Given the description of an element on the screen output the (x, y) to click on. 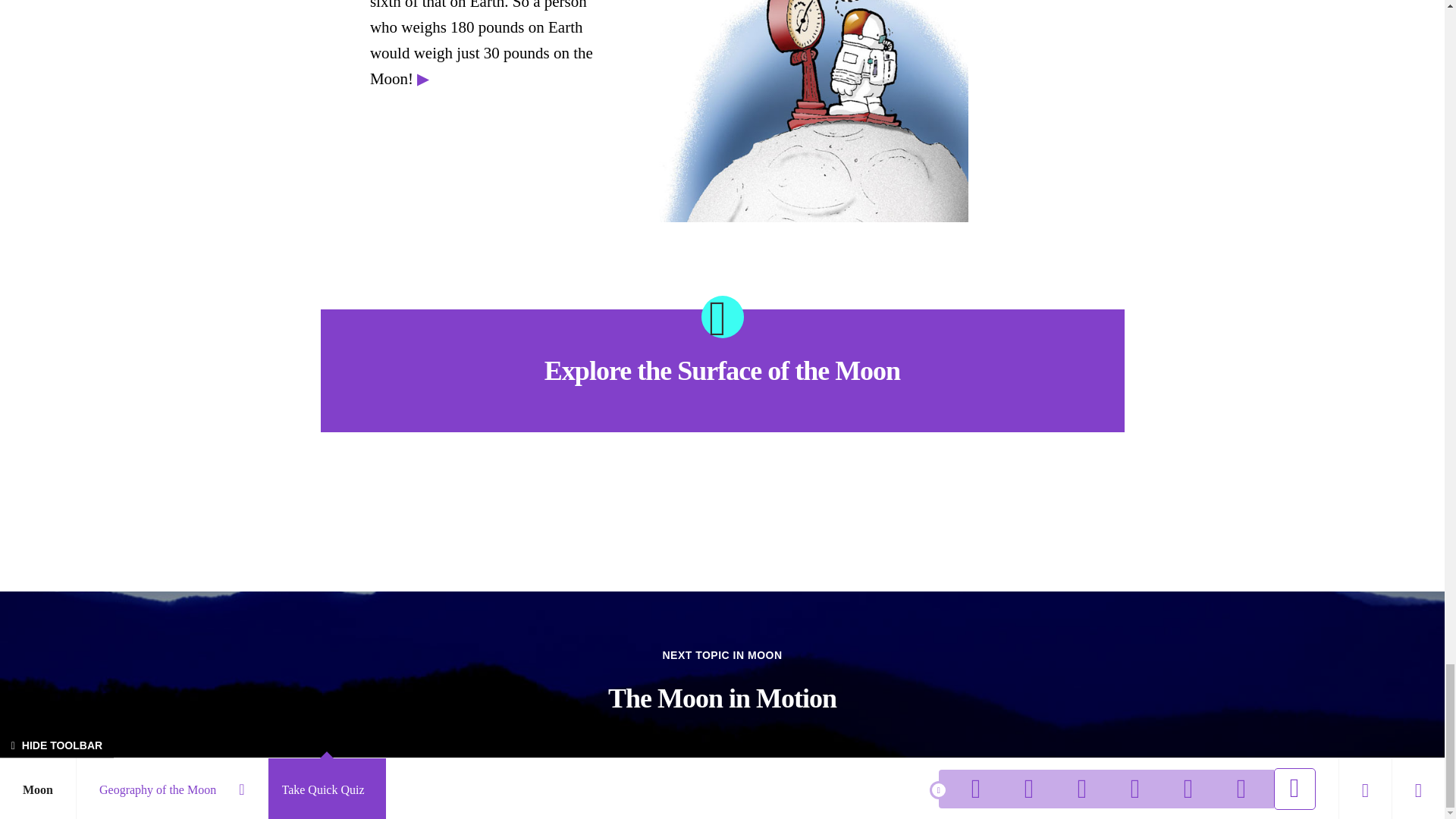
Explore the Surface of the Moon (722, 370)
